Given the description of an element on the screen output the (x, y) to click on. 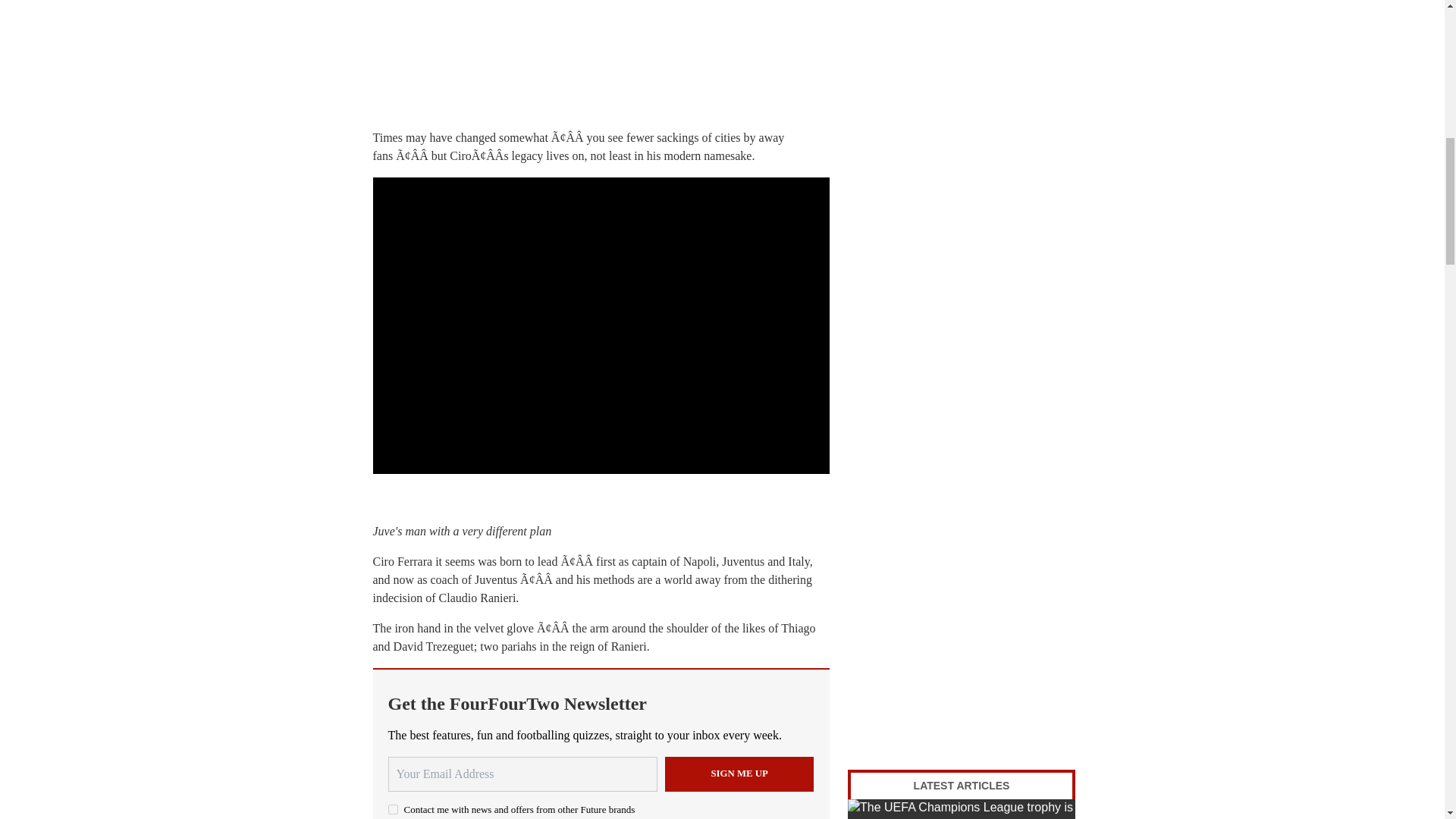
on (392, 809)
Sign me up (739, 773)
